Given the description of an element on the screen output the (x, y) to click on. 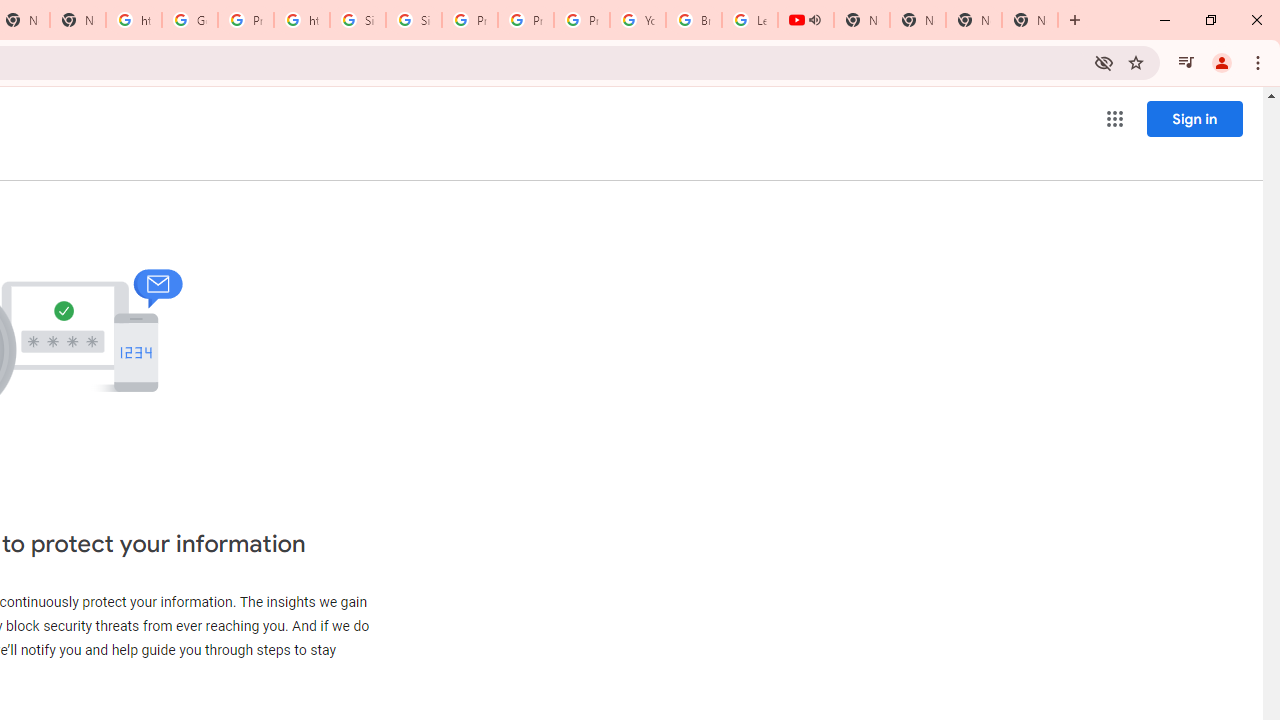
Third-party cookies blocked (1103, 62)
Control your music, videos, and more (1185, 62)
https://scholar.google.com/ (301, 20)
New Tab (1030, 20)
Sign in - Google Accounts (358, 20)
Browse Chrome as a guest - Computer - Google Chrome Help (693, 20)
Privacy Help Center - Policies Help (469, 20)
Mute tab (814, 20)
